Given the description of an element on the screen output the (x, y) to click on. 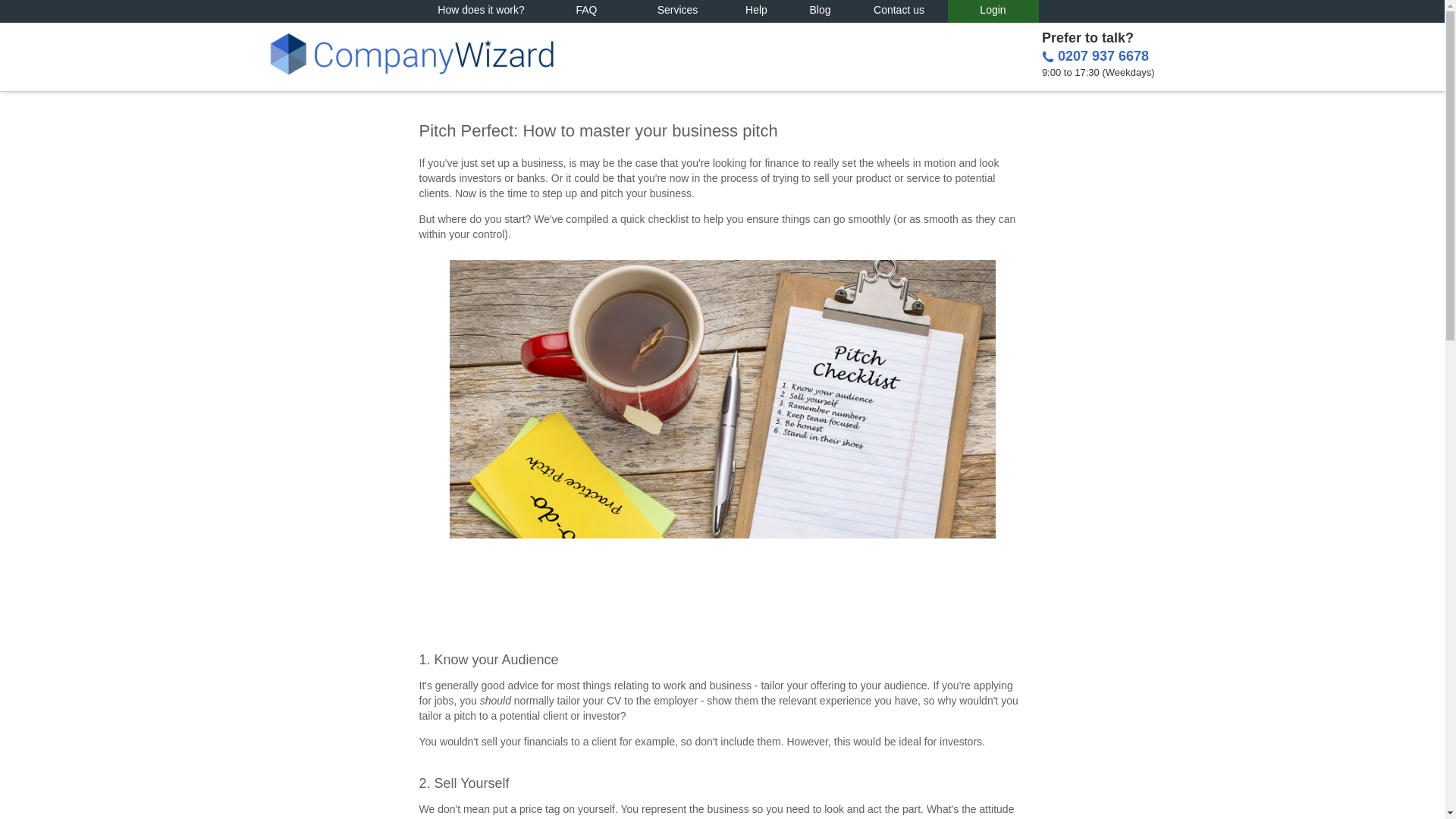
How does it work? (481, 11)
FAQ (586, 11)
Company Formation Wizard (410, 53)
0207 937 6678 (1103, 55)
Help (756, 11)
Contact us (898, 11)
Blog (820, 11)
Login (993, 11)
Services (677, 11)
